Given the description of an element on the screen output the (x, y) to click on. 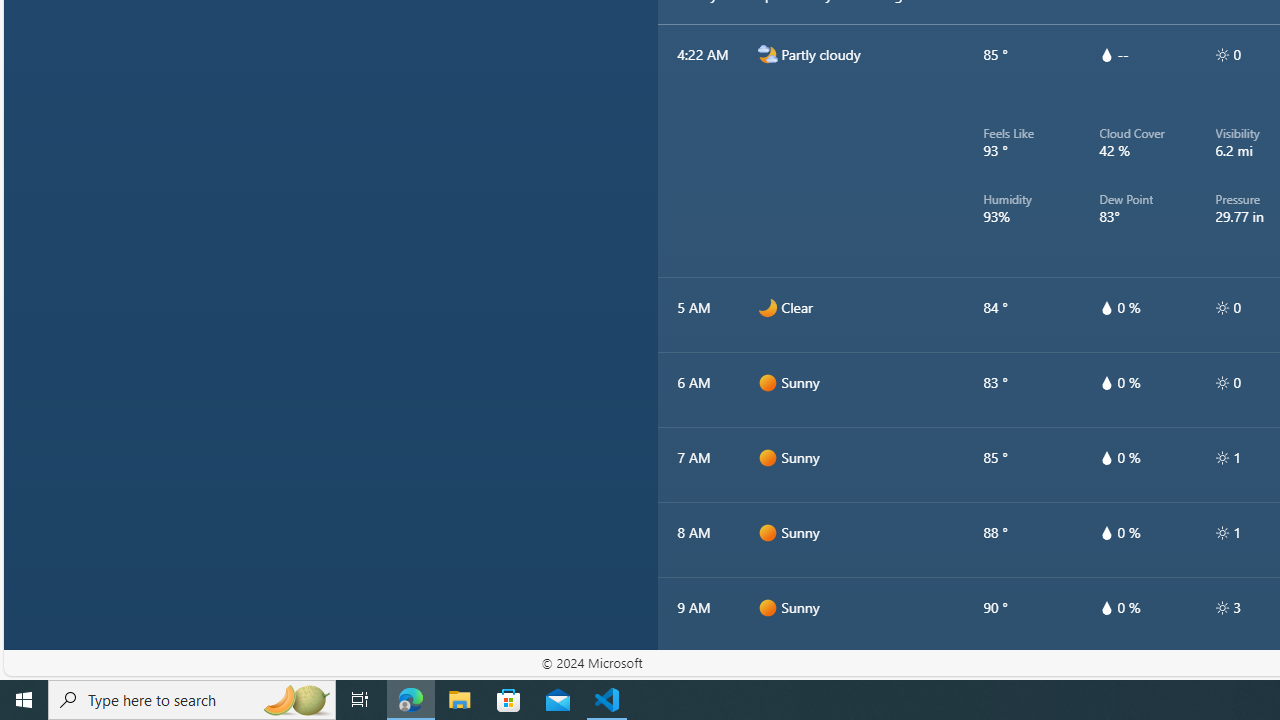
n2000 (767, 54)
hourlyTable/drop (1106, 607)
n0000 (767, 308)
hourlyTable/uv (1222, 607)
d0000 (767, 682)
